Given the description of an element on the screen output the (x, y) to click on. 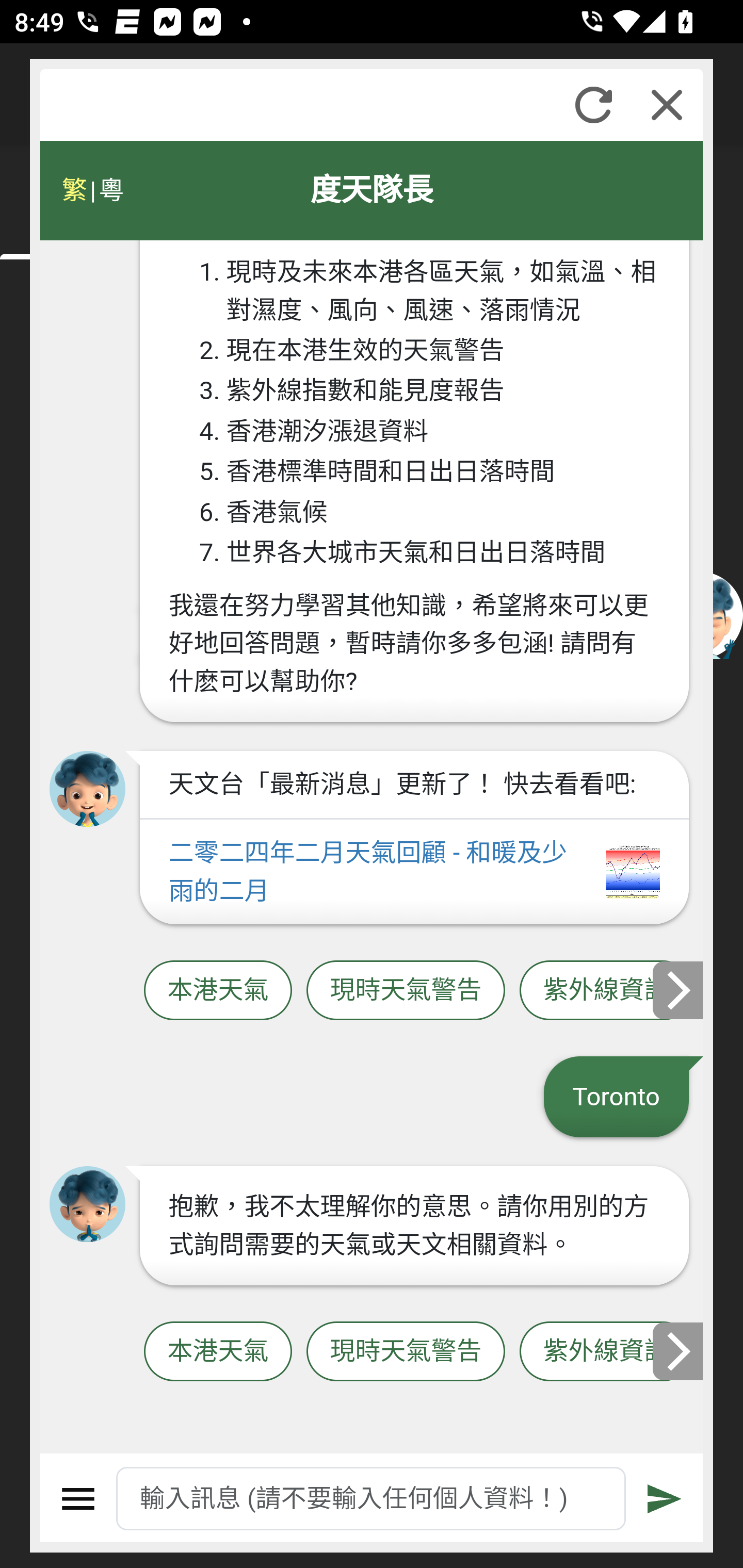
重新整理 (593, 104)
關閉 (666, 104)
繁 (73, 190)
粵 (110, 190)
二零二四年二月天氣回顧 - 和暖及少雨的二月 (413, 872)
本港天氣 (217, 990)
現時天氣警告 (405, 990)
紫外線資訊 (605, 990)
下一張 (678, 989)
本港天氣 (217, 1351)
現時天氣警告 (405, 1351)
紫外線資訊 (605, 1351)
下一張 (678, 1351)
選單 (78, 1498)
遞交 (665, 1498)
